Given the description of an element on the screen output the (x, y) to click on. 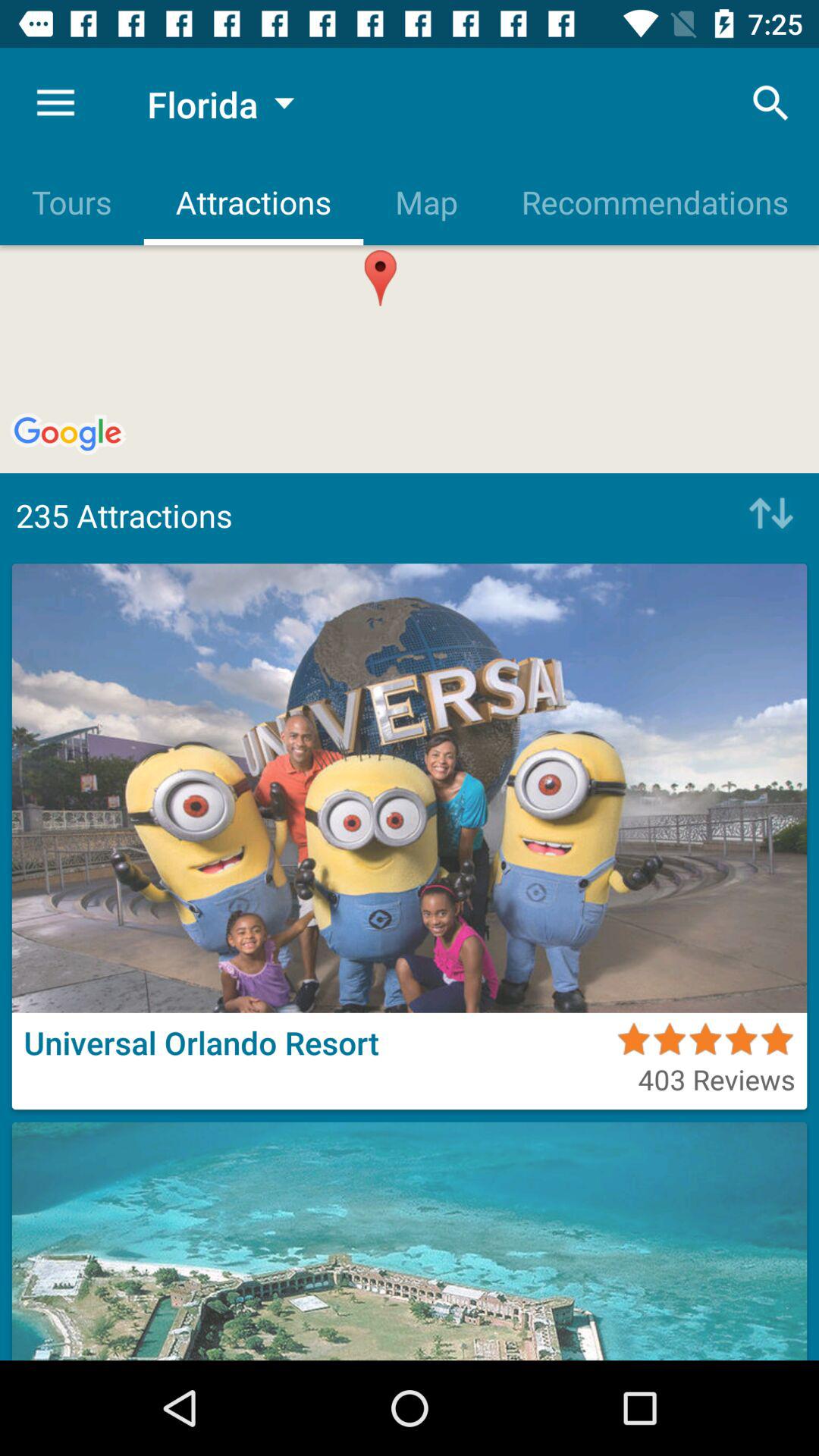
sort list (767, 515)
